Given the description of an element on the screen output the (x, y) to click on. 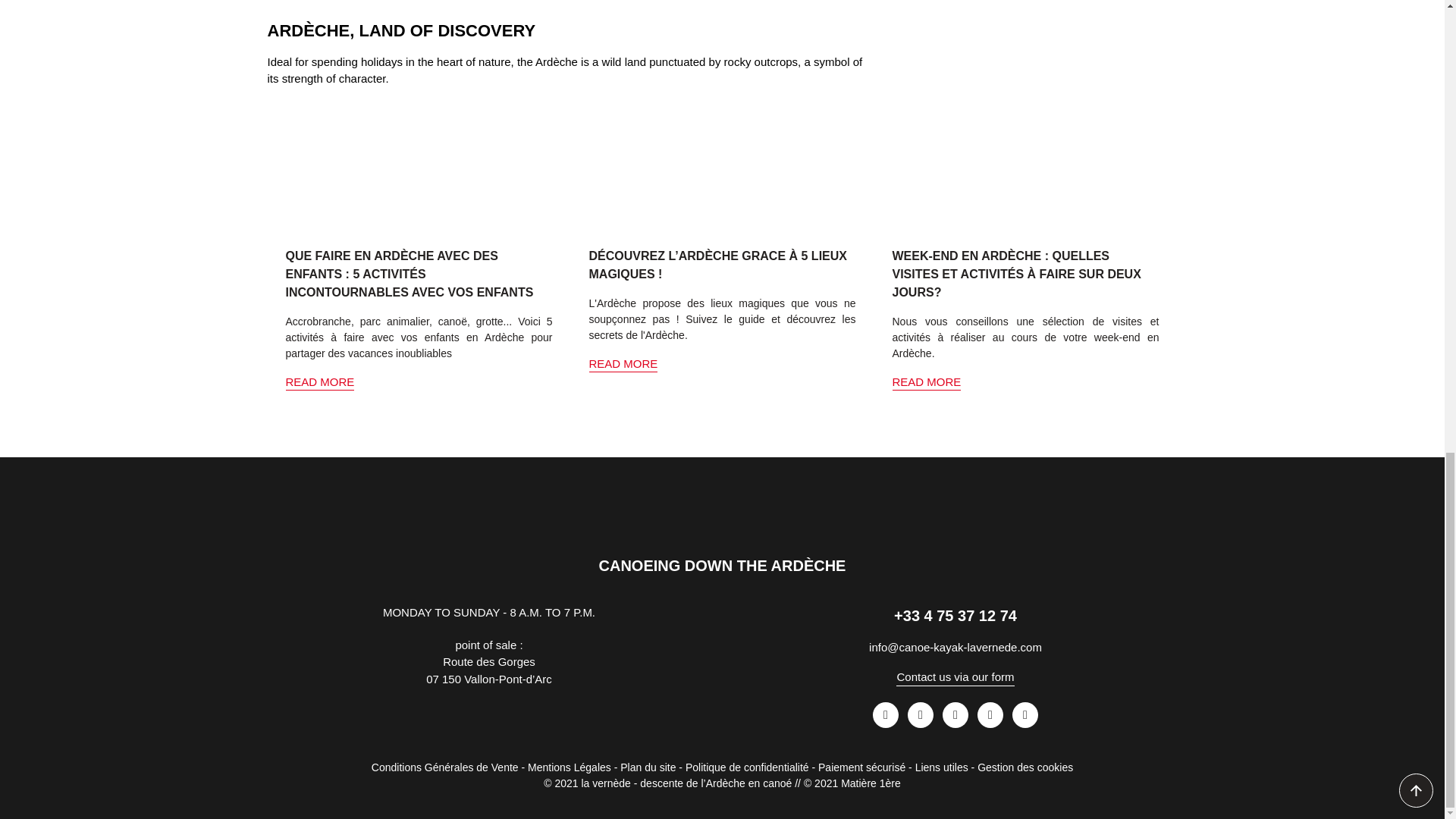
Gestion des cookies (1024, 767)
READ MORE (925, 381)
Plan du site (647, 767)
READ MORE (319, 381)
READ MORE (623, 363)
Contact us via our form (954, 675)
Liens utiles (941, 767)
